Given the description of an element on the screen output the (x, y) to click on. 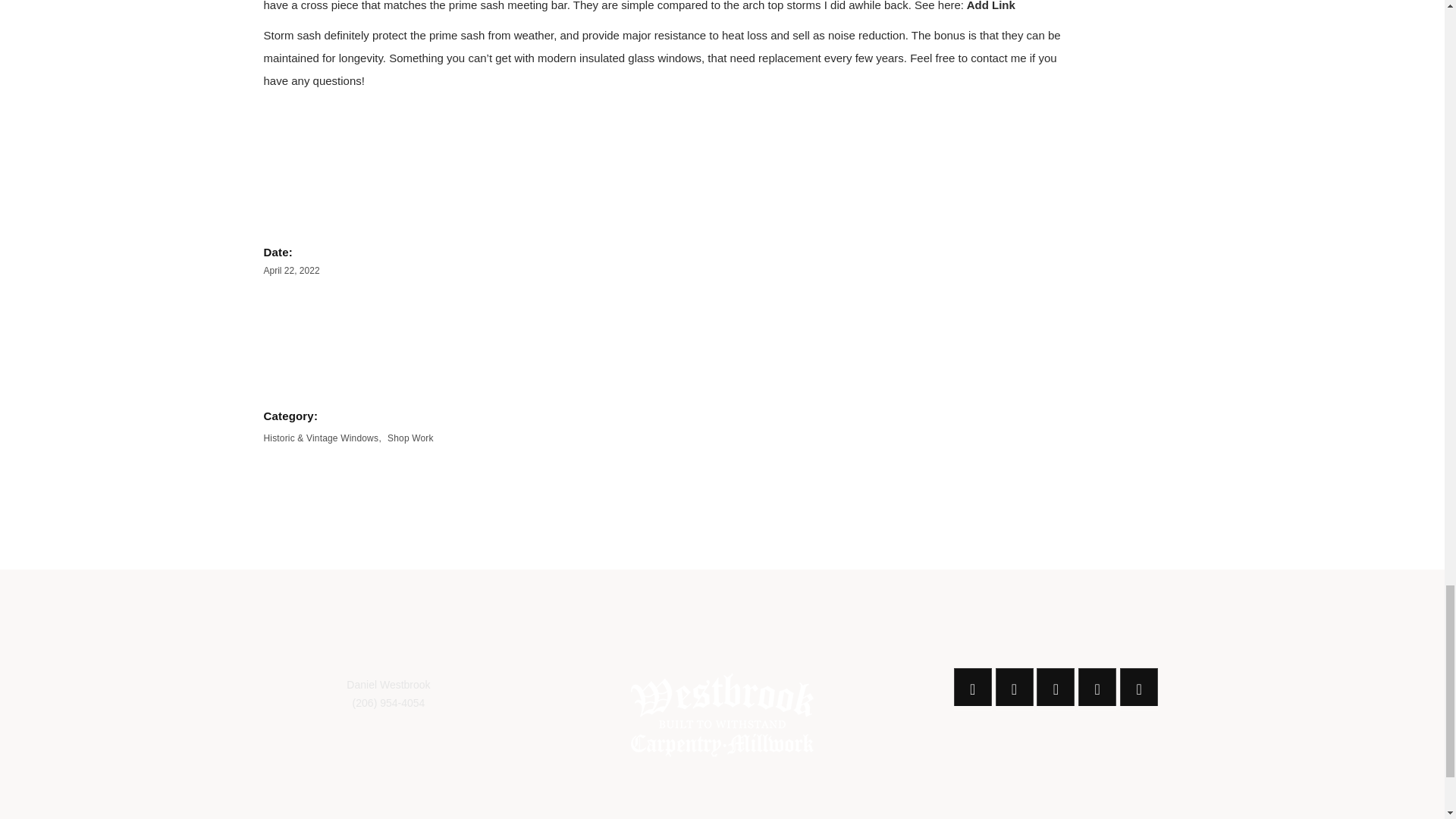
Shop Work (410, 437)
